Given the description of an element on the screen output the (x, y) to click on. 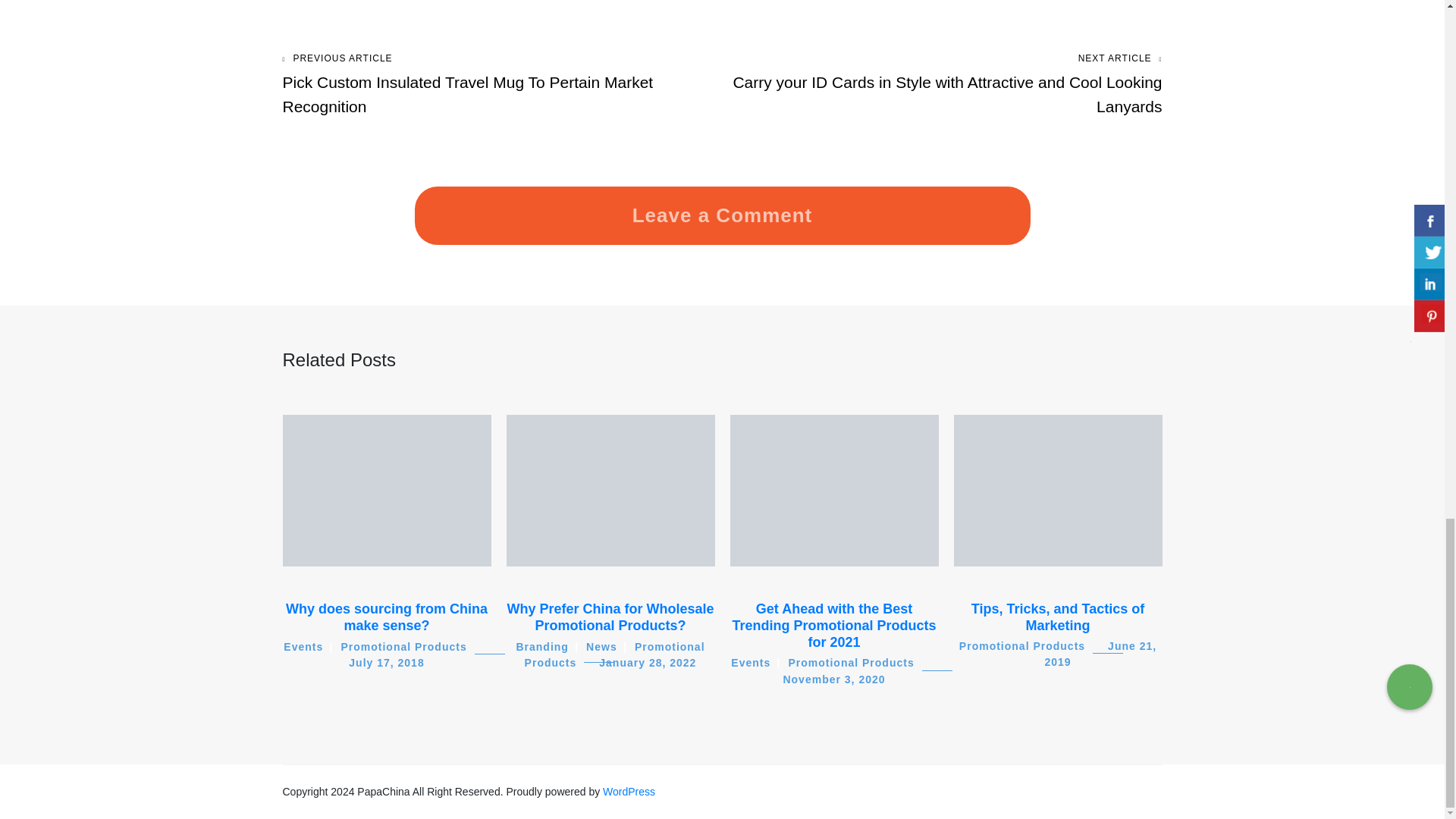
Leave a Comment (721, 150)
